Given the description of an element on the screen output the (x, y) to click on. 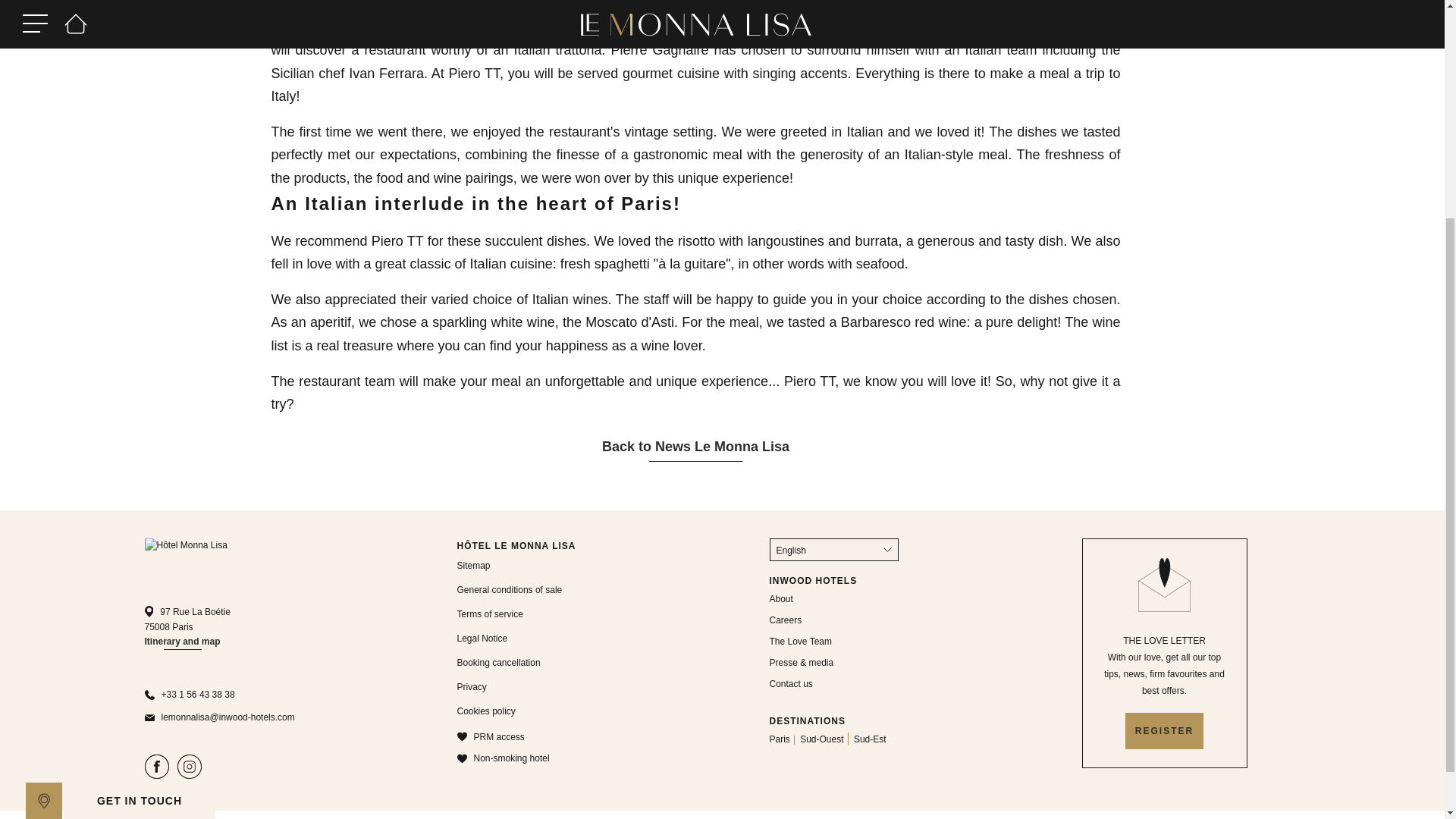
English (833, 549)
Piero TT (376, 26)
GET IN TOUCH (139, 494)
General conditions of sale (509, 589)
Sitemap (473, 565)
Privacy (471, 686)
Legal Notice (481, 638)
Cookies policy (486, 710)
Terms of service (489, 614)
Back to News Le Monna Lisa (695, 447)
